Given the description of an element on the screen output the (x, y) to click on. 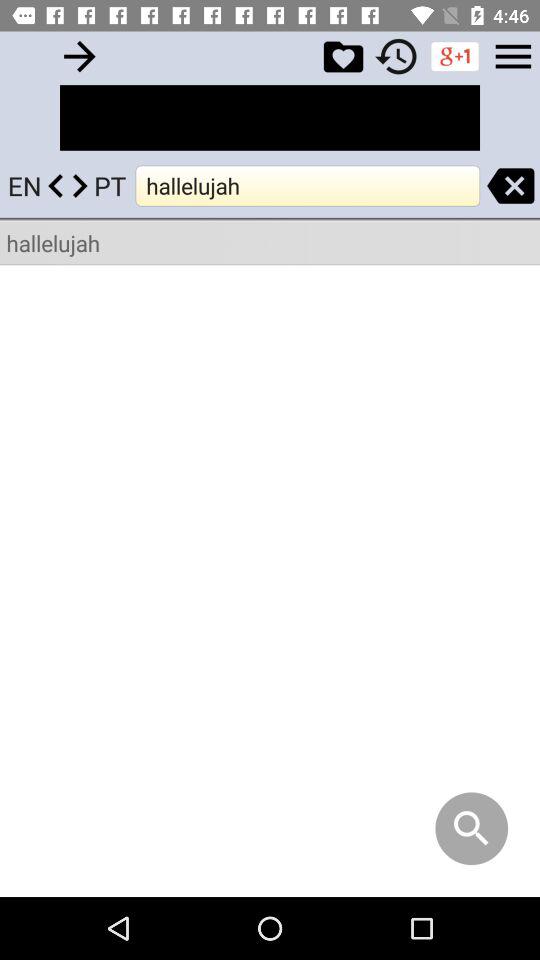
favorite button (343, 56)
